Given the description of an element on the screen output the (x, y) to click on. 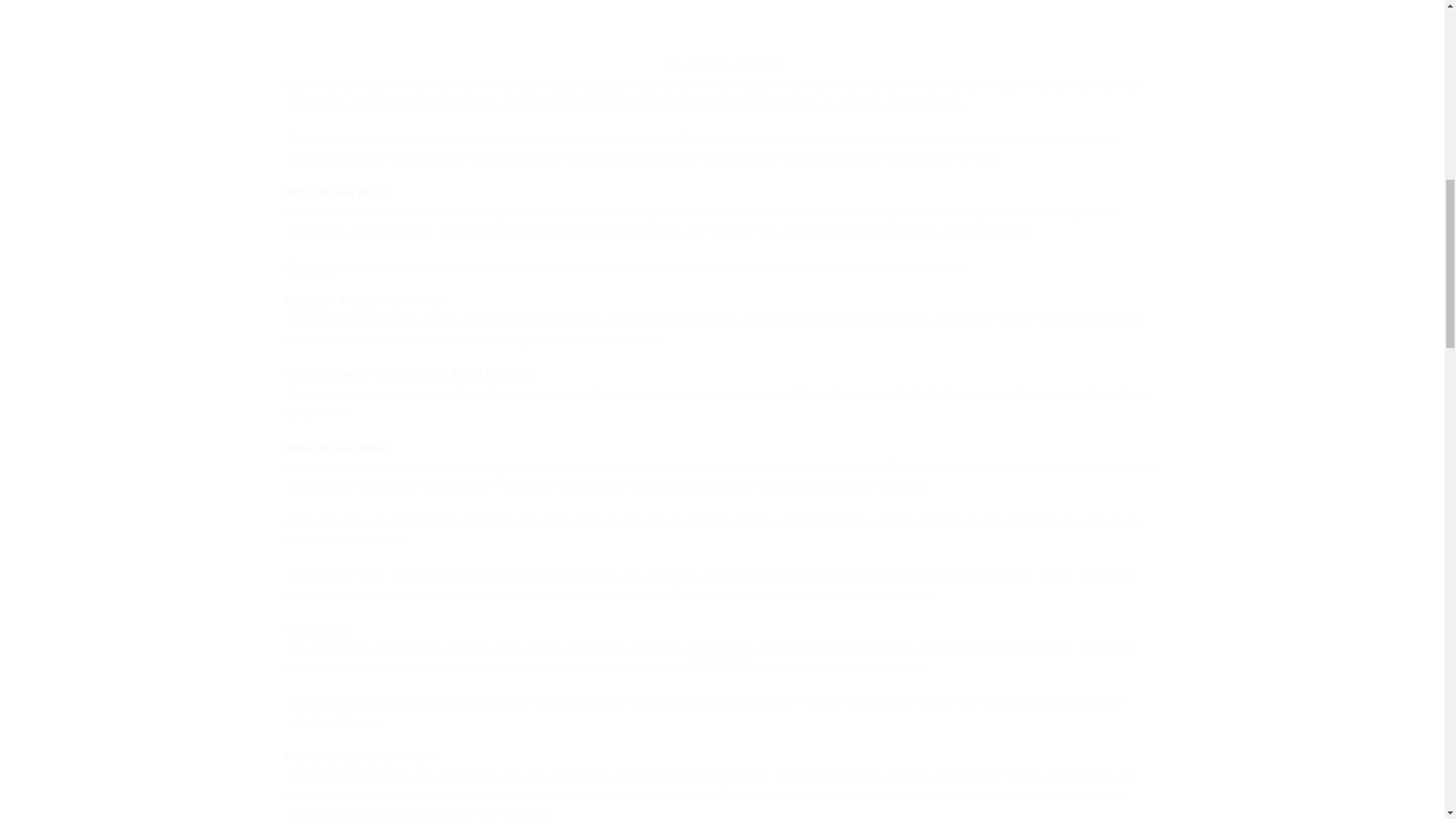
Sea moss (312, 267)
Antioxidant Spirulina Medical Study (719, 649)
Wild Sea Moss (312, 267)
antioxidants (719, 649)
